Given the description of an element on the screen output the (x, y) to click on. 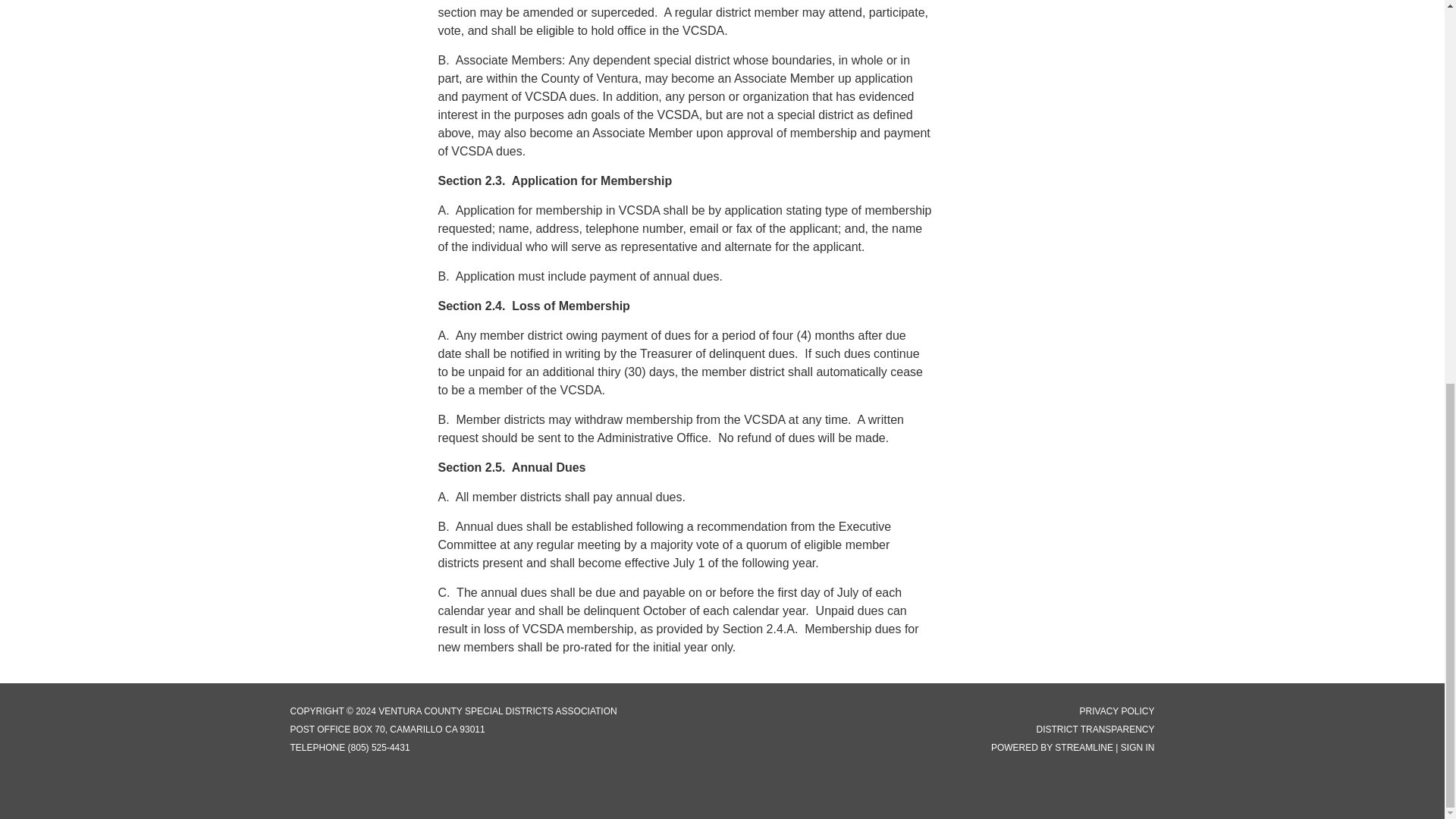
PRIVACY POLICY (1117, 710)
Streamline: Technology for Special Districts (1083, 747)
Special District Transparency Report (1094, 728)
